Given the description of an element on the screen output the (x, y) to click on. 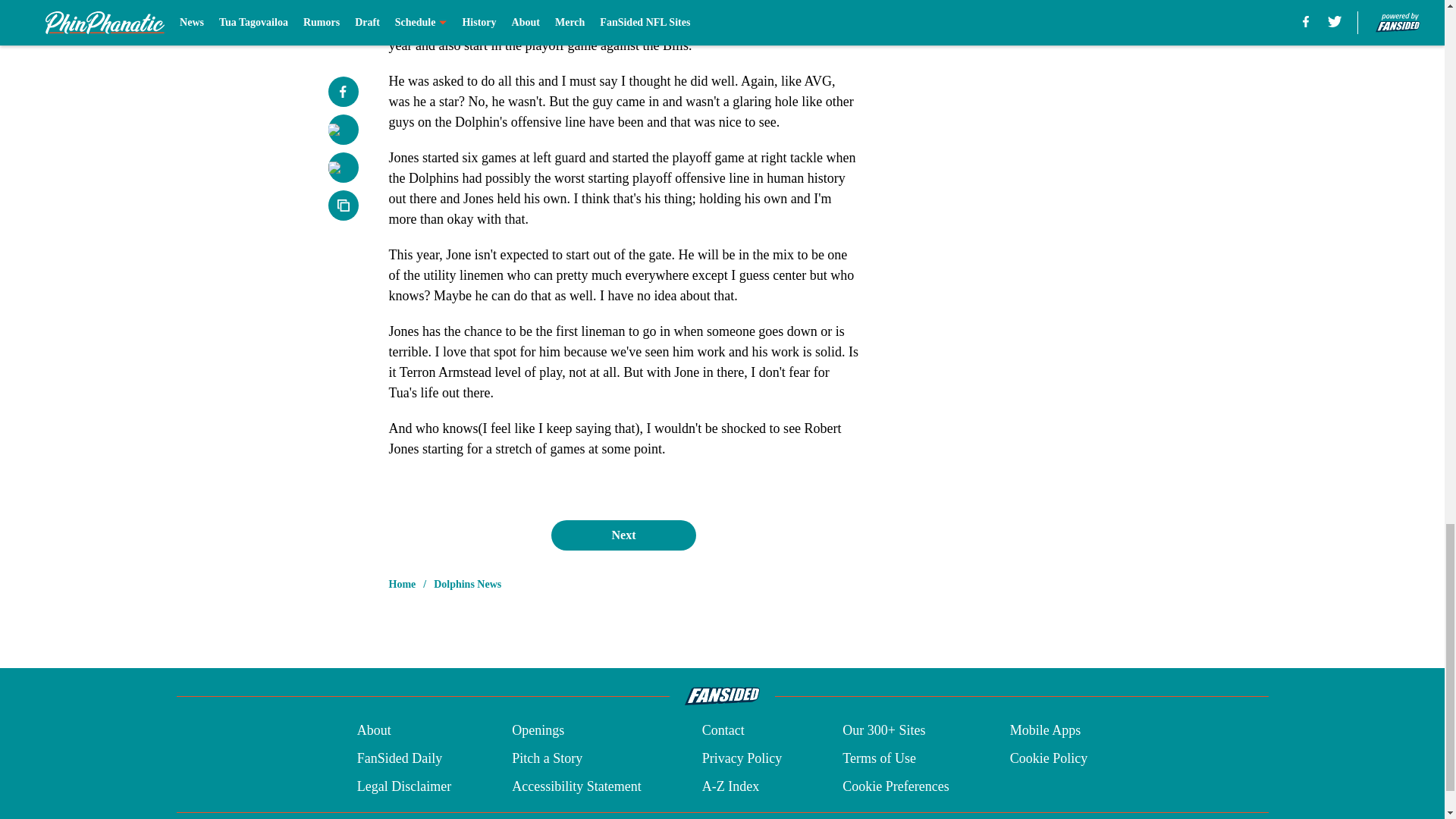
Mobile Apps (1045, 730)
A-Z Index (729, 786)
Privacy Policy (742, 758)
FanSided Daily (399, 758)
Contact (722, 730)
Openings (538, 730)
Legal Disclaimer (403, 786)
Pitch a Story (547, 758)
Accessibility Statement (576, 786)
Dolphins News (466, 584)
